Given the description of an element on the screen output the (x, y) to click on. 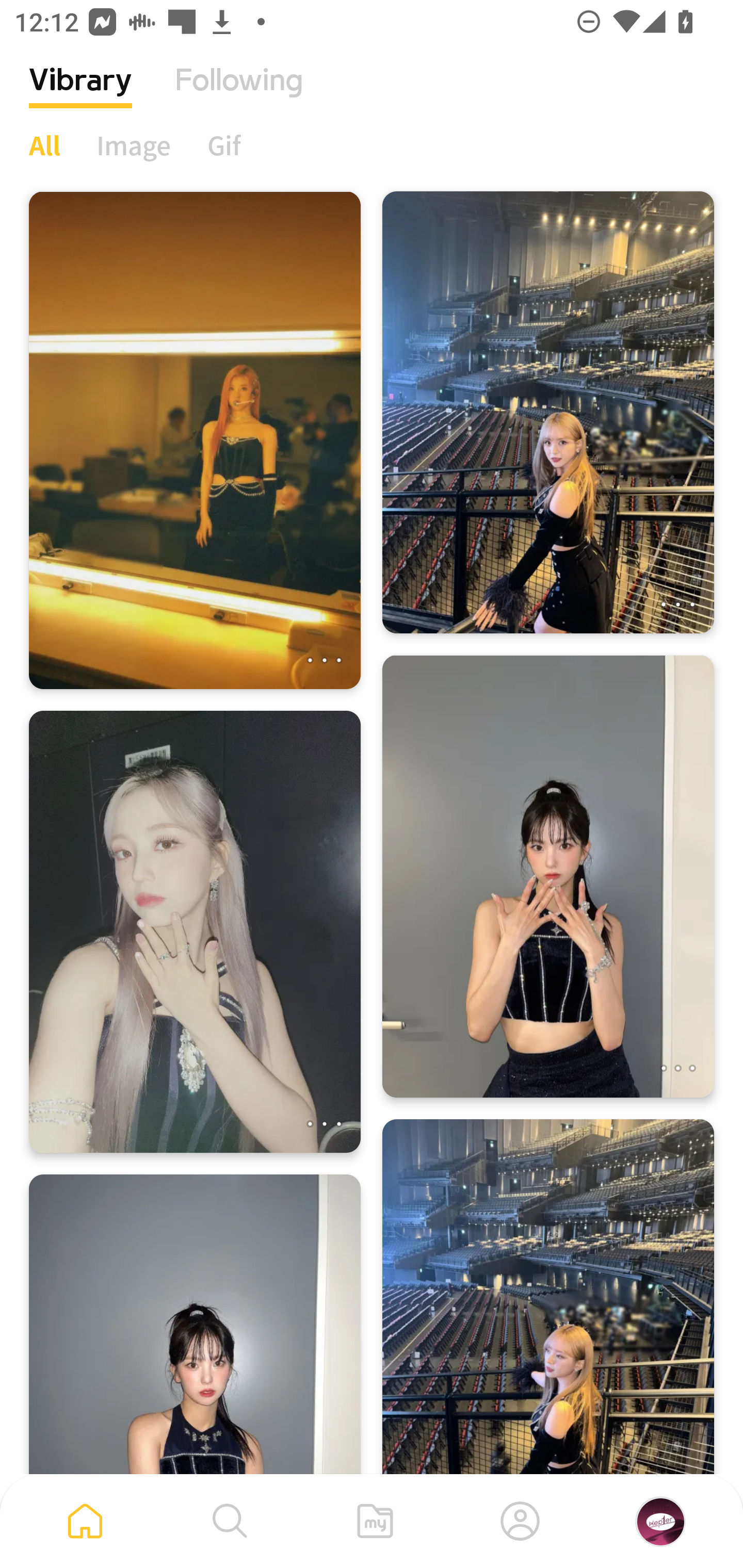
Vibrary (80, 95)
Following (239, 95)
All (44, 145)
Image (133, 145)
Gif (223, 145)
